Given the description of an element on the screen output the (x, y) to click on. 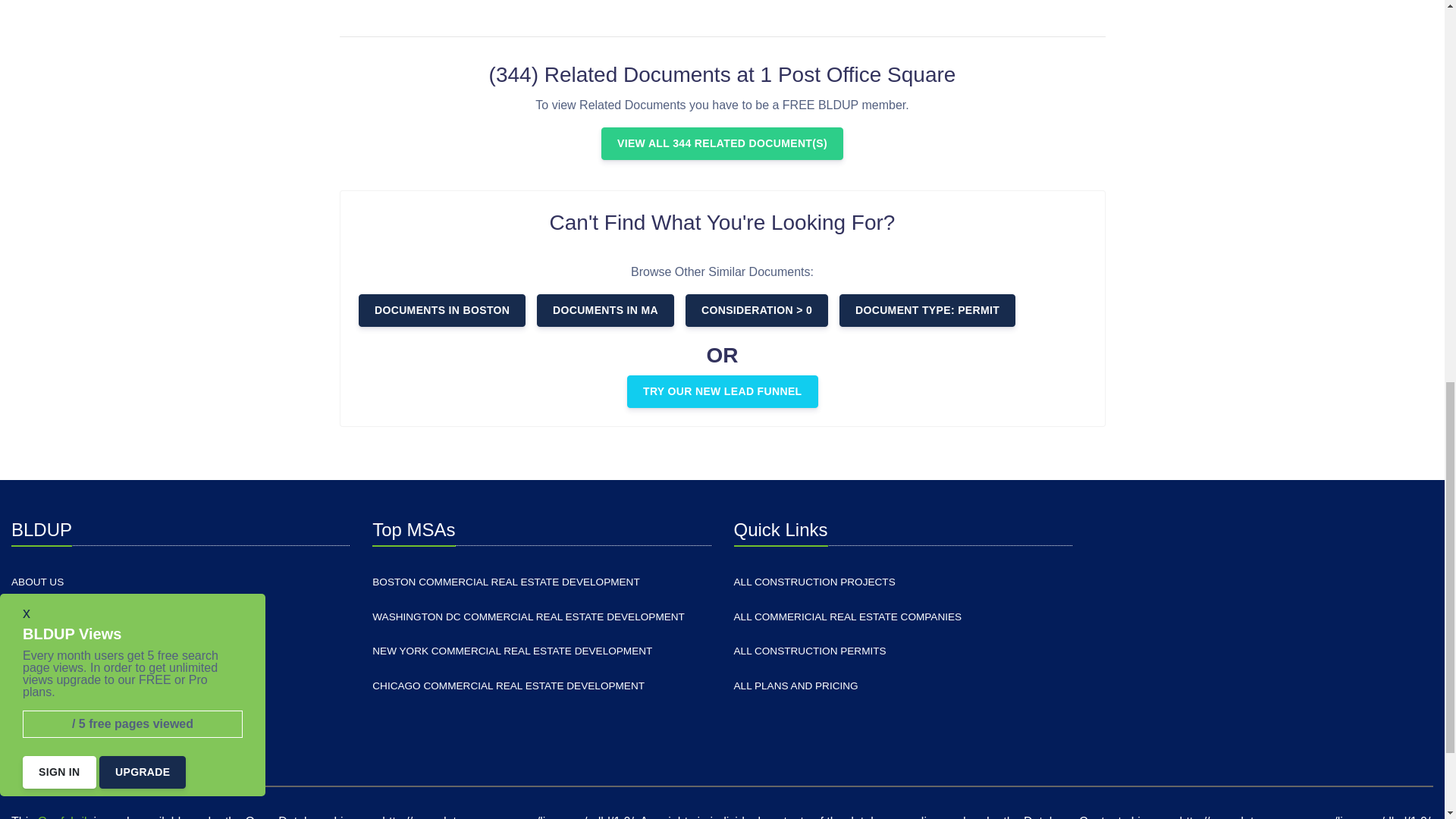
DOCUMENTS IN MA (605, 310)
ABOUT US (37, 582)
ADD A PROJECT (52, 617)
DOCUMENTS IN BOSTON (441, 310)
DOCUMENT TYPE: PERMIT (927, 310)
TRY OUR NEW LEAD FUNNEL (722, 391)
ADD AN ORGANIZATION (71, 651)
